Given the description of an element on the screen output the (x, y) to click on. 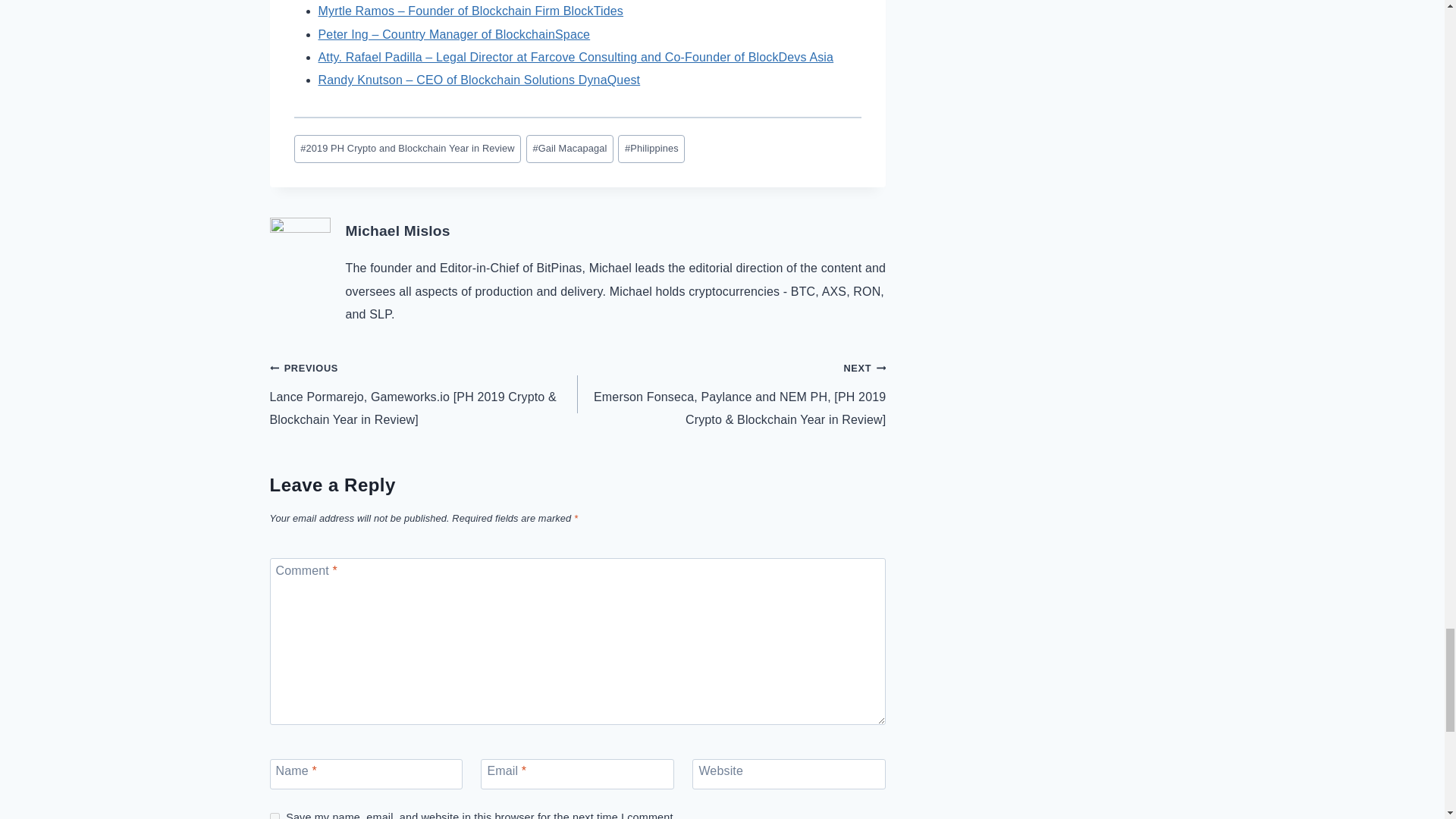
2019 PH Crypto and Blockchain Year in Review (407, 148)
Gail Macapagal (568, 148)
Philippines (650, 148)
Posts by Michael Mislos (397, 230)
yes (274, 816)
